Given the description of an element on the screen output the (x, y) to click on. 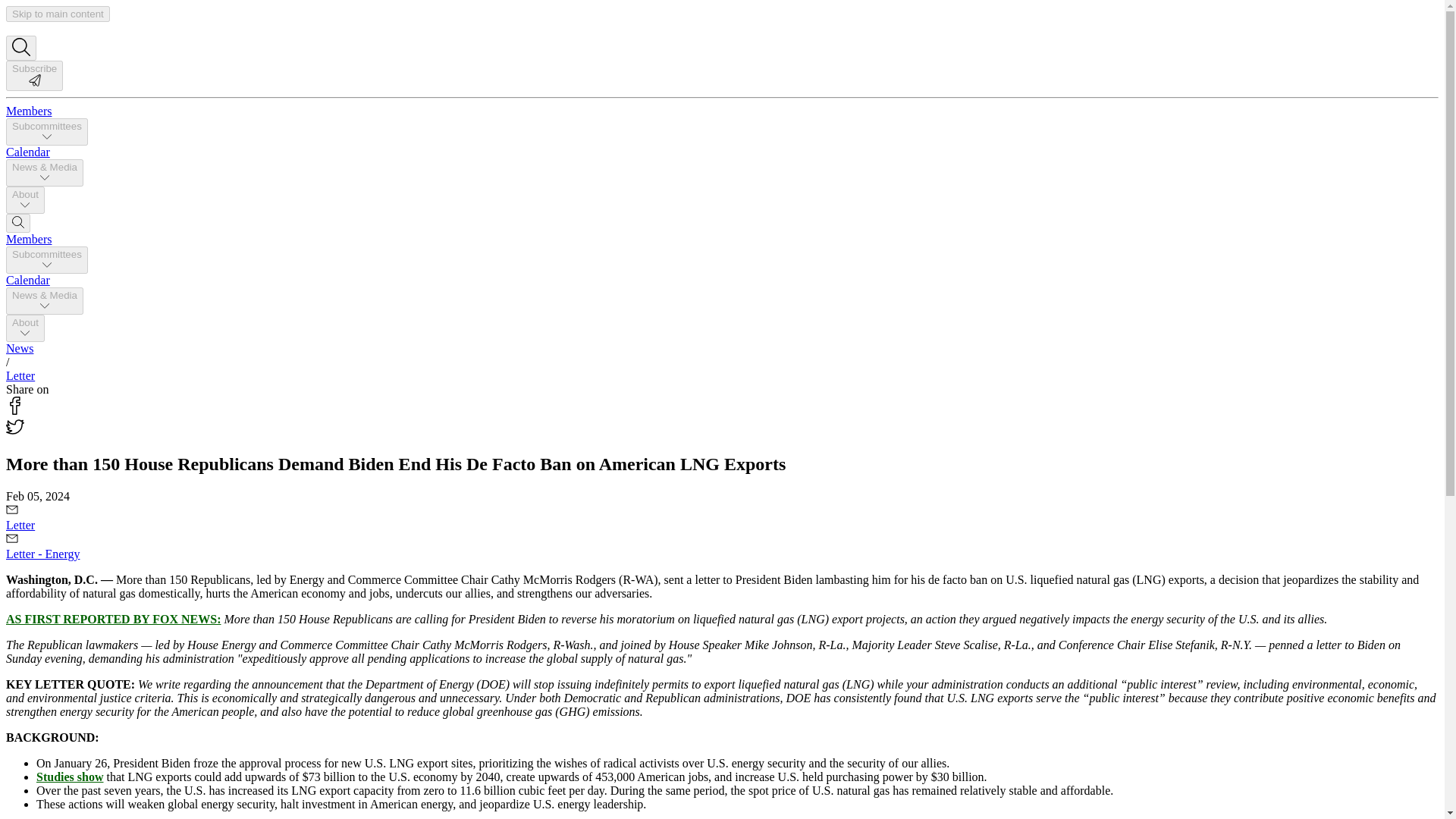
Subcommittees (46, 259)
About (25, 199)
Skip to main content (57, 13)
Studies show (69, 776)
Subscribe (33, 82)
Members (27, 110)
Subcommittees (46, 131)
AS FIRST REPORTED BY FOX NEWS: (113, 618)
About (25, 328)
Members (27, 238)
Calendar (27, 279)
News (19, 348)
Calendar (27, 151)
Subscribe (33, 75)
Letter (19, 375)
